Given the description of an element on the screen output the (x, y) to click on. 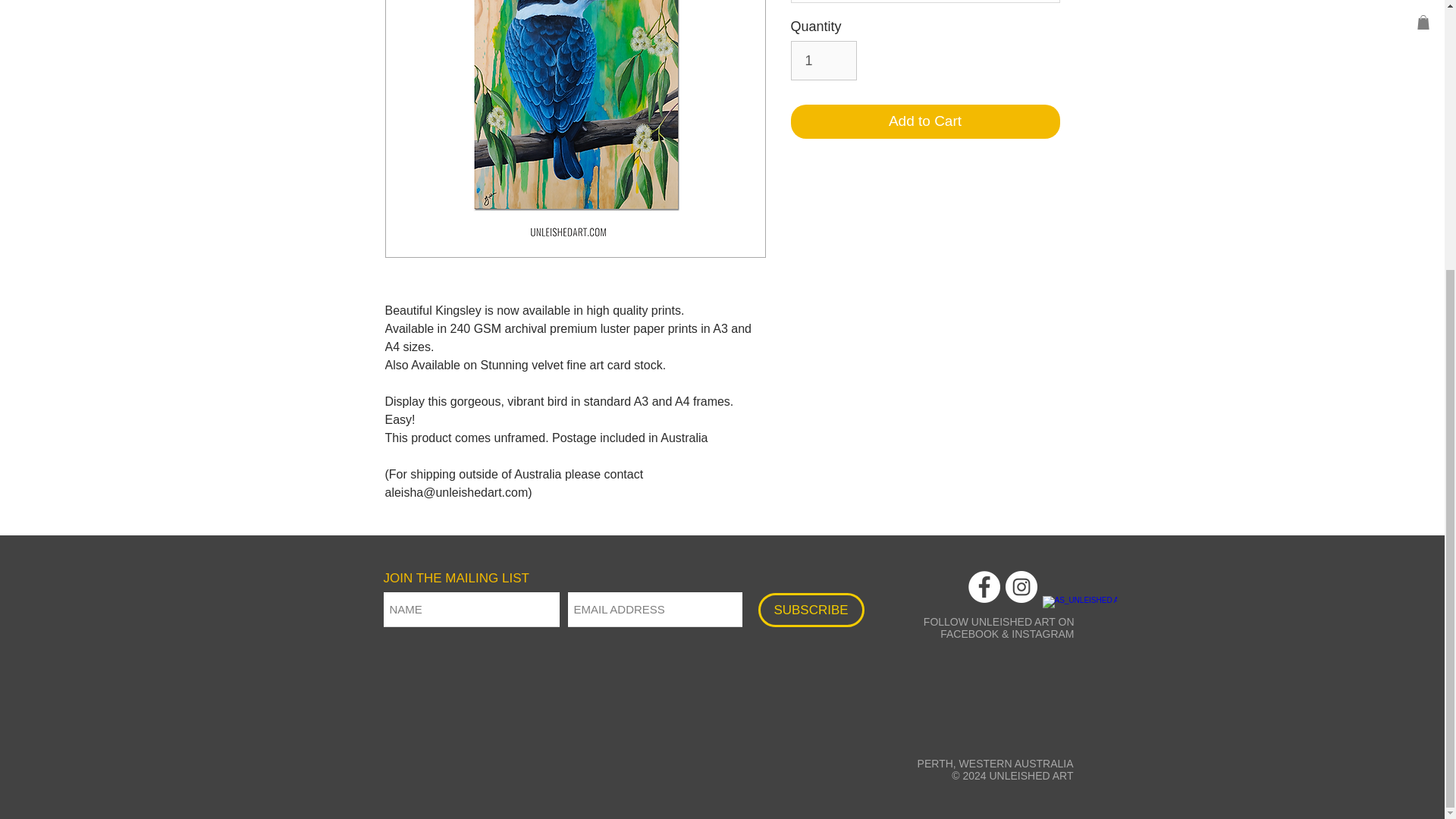
Add to Cart (924, 121)
SUBSCRIBE (811, 609)
1 (823, 60)
Select (924, 1)
